Given the description of an element on the screen output the (x, y) to click on. 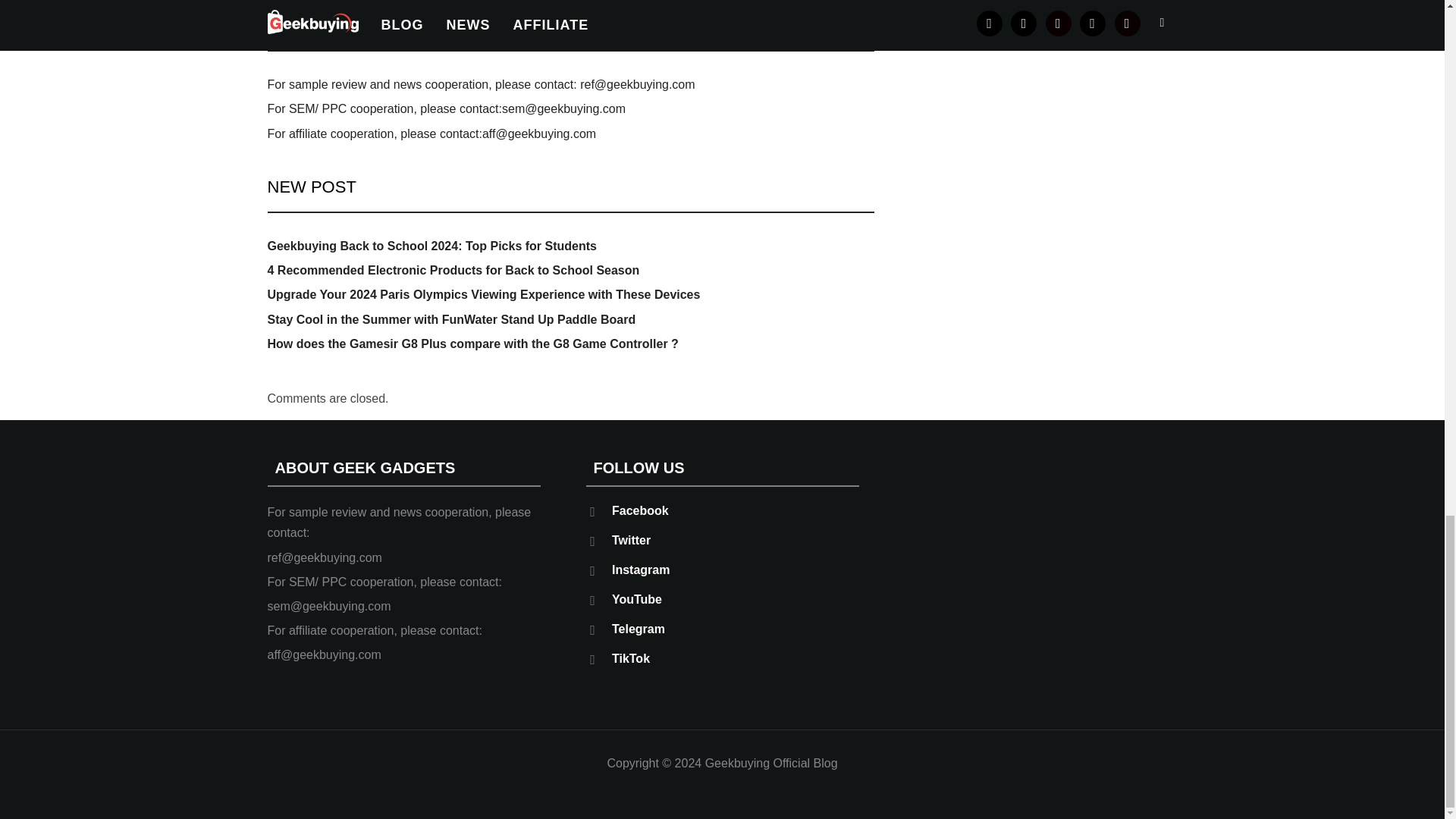
4 Recommended Electronic Products for Back to School Season (452, 269)
Stay Cool in the Summer with FunWater Stand Up Paddle Board (450, 318)
Geekbuying Back to School 2024: Top Picks for Students (430, 245)
